Given the description of an element on the screen output the (x, y) to click on. 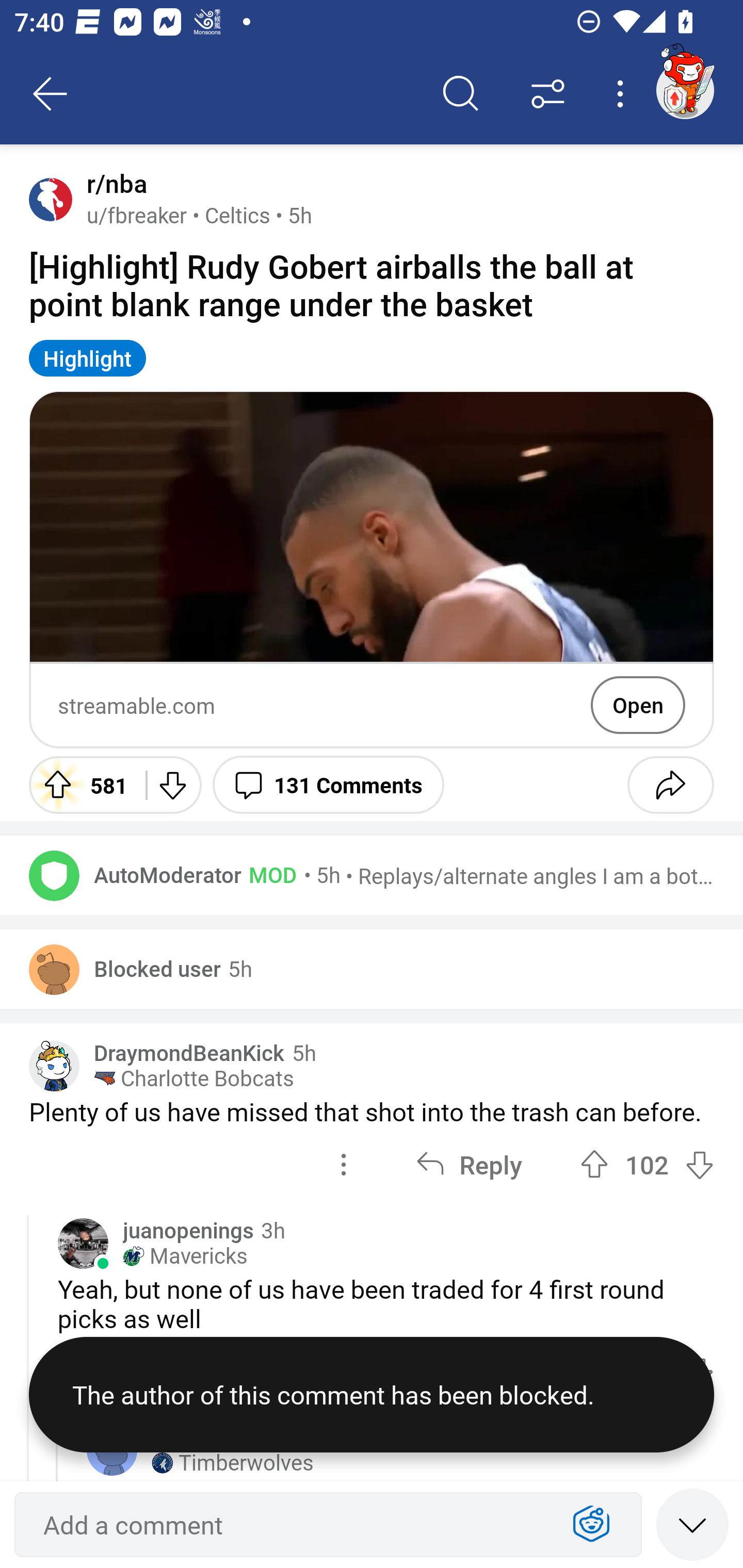
Back (50, 93)
TestAppium002 account (685, 90)
Search comments (460, 93)
Sort comments (547, 93)
More options (623, 93)
r/nba (113, 183)
Avatar (50, 199)
Highlight (87, 358)
Preview Image streamable.com Open (371, 568)
Open (637, 704)
Upvote 581 (79, 784)
Downvote (171, 784)
131 Comments (328, 784)
Share (670, 784)
Avatar (53, 874)
MOD (268, 874)
Avatar (53, 968)
Custom avatar (53, 1066)
￼ Charlotte Bobcats (193, 1078)
options (343, 1164)
Reply (469, 1164)
Upvote 102 102 votes Downvote (647, 1164)
Avatar (82, 1243)
￼ Mavericks (185, 1255)
Speed read (692, 1524)
Add a comment (291, 1524)
Show Expressions (590, 1524)
